Given the description of an element on the screen output the (x, y) to click on. 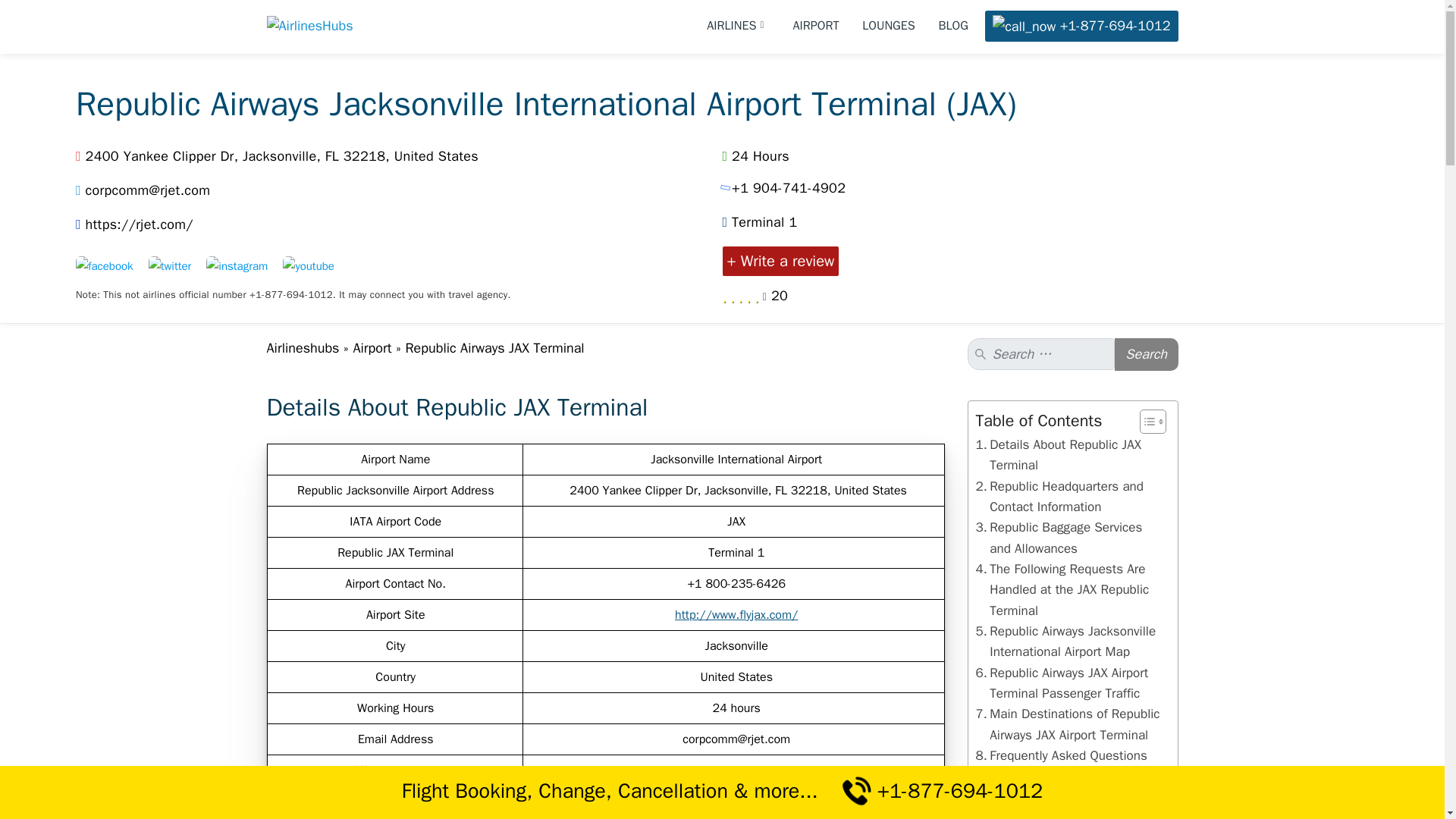
Search (1146, 354)
Search (1146, 354)
AIRLINES (738, 25)
AIRPORT (816, 25)
